Given the description of an element on the screen output the (x, y) to click on. 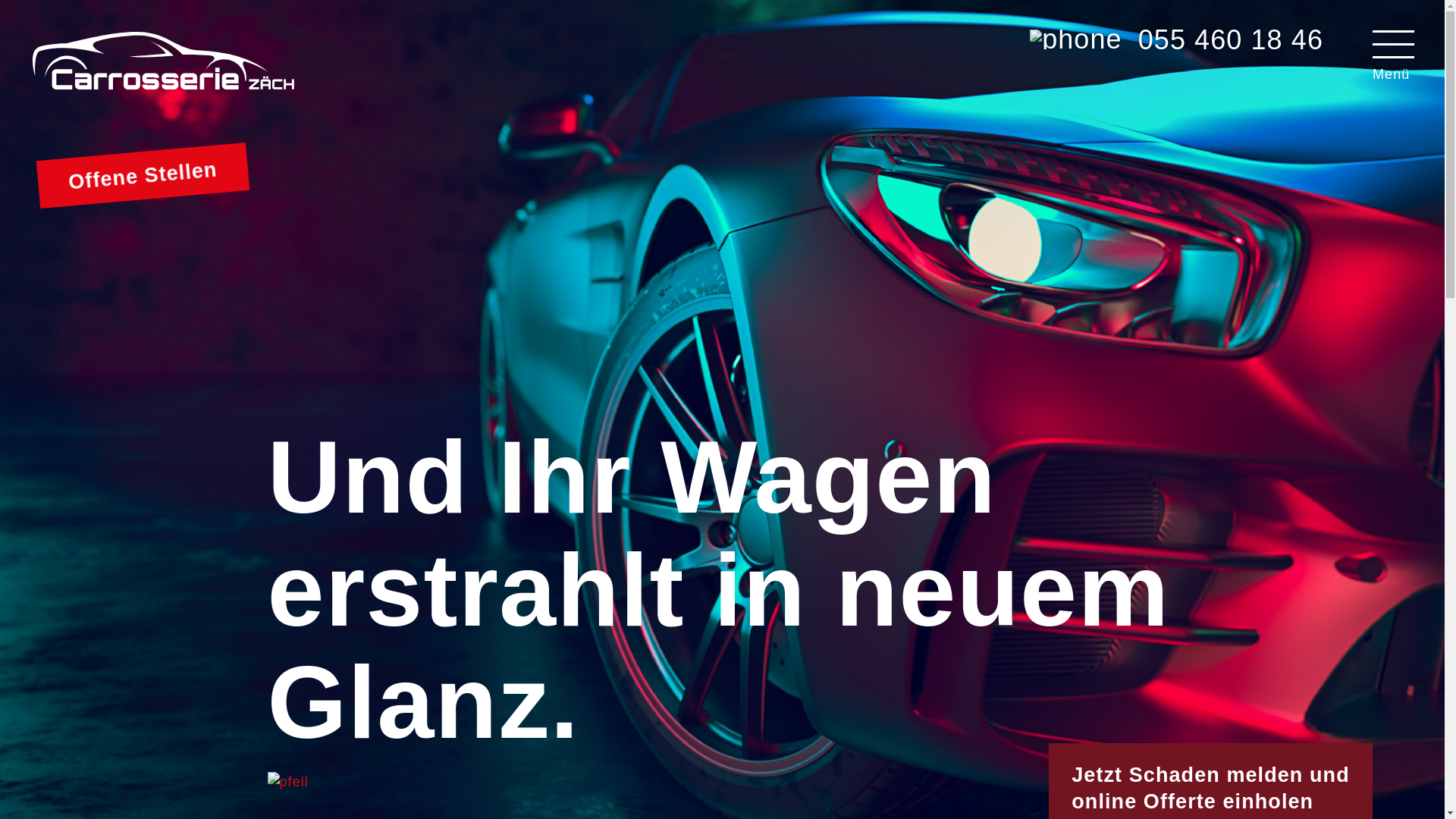
055 460 18 46 Element type: text (1176, 39)
Jetzt Schaden melden und Element type: text (1210, 774)
Offene Stellen Element type: text (141, 166)
online Offerte einholen Element type: text (1192, 801)
